Given the description of an element on the screen output the (x, y) to click on. 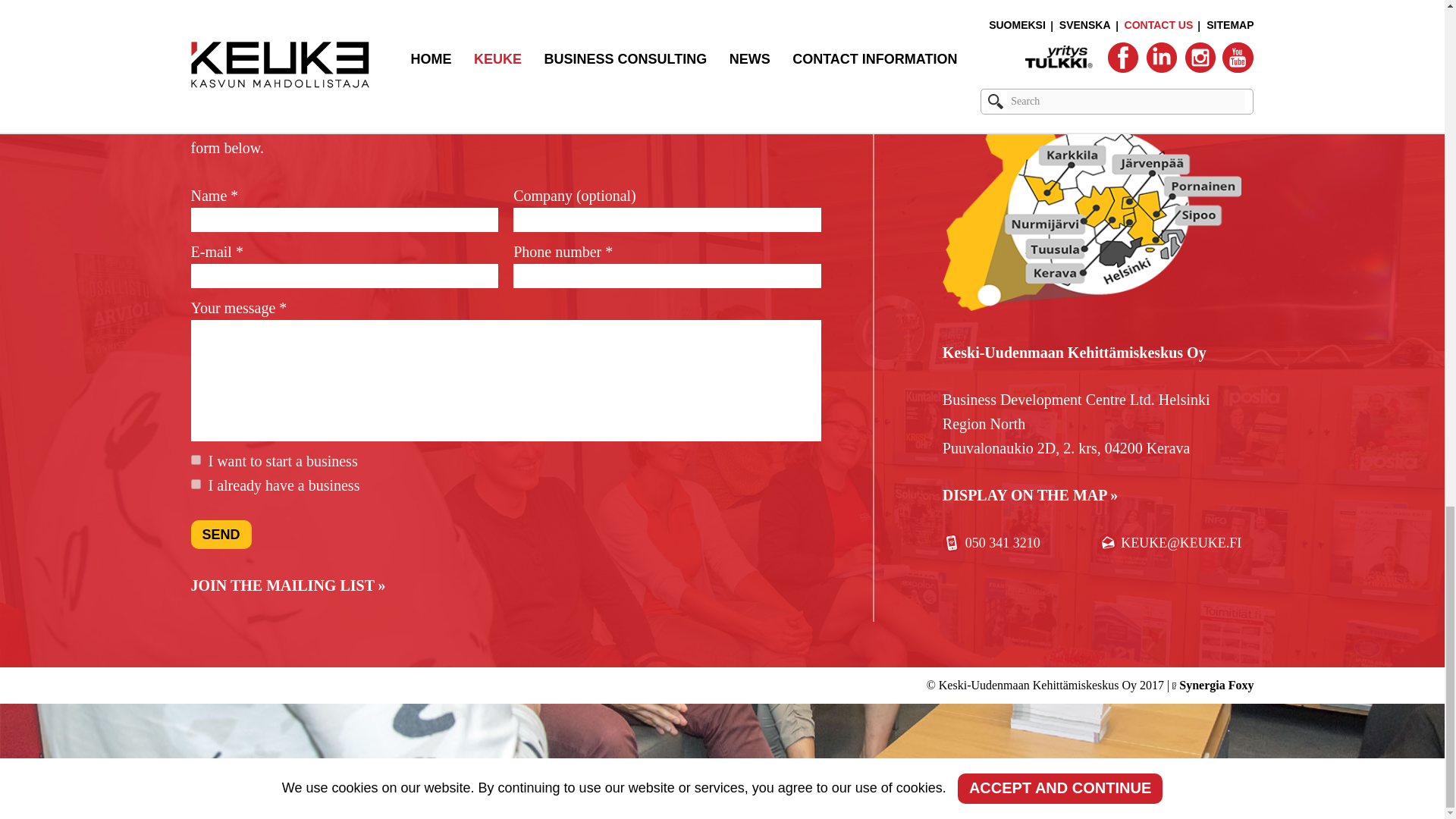
Send (220, 534)
I already have a business (195, 483)
I want to start a business (195, 460)
